Given the description of an element on the screen output the (x, y) to click on. 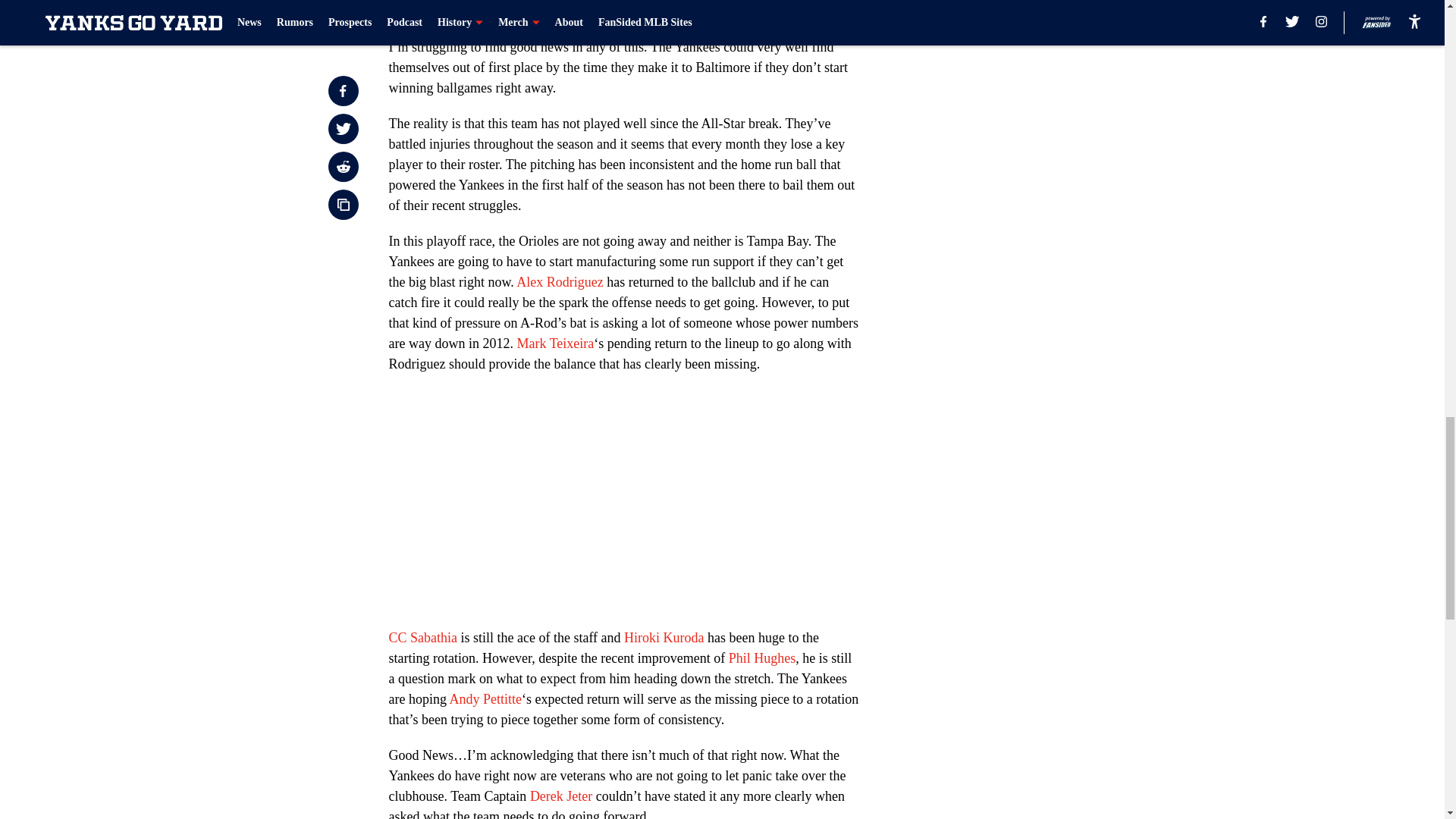
Phil Hughes (762, 657)
Hiroki Kuroda (663, 637)
CC Sabathia (422, 637)
Mark Teixeira (555, 343)
Alex Rodriguez (559, 281)
Derek Jeter (560, 795)
Andy Pettitte (484, 698)
